Given the description of an element on the screen output the (x, y) to click on. 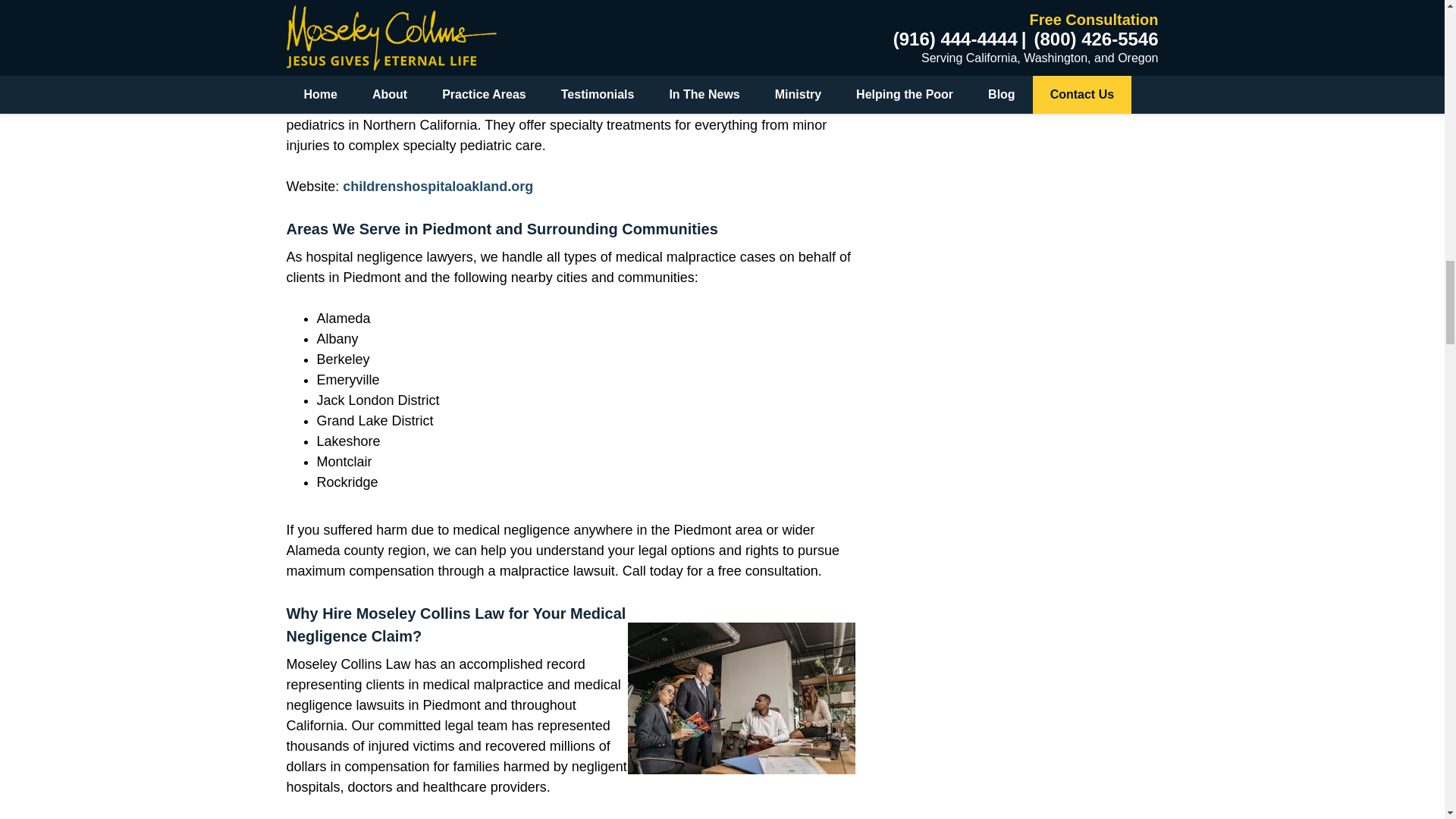
childrenshospitaloakland.org (437, 186)
